Given the description of an element on the screen output the (x, y) to click on. 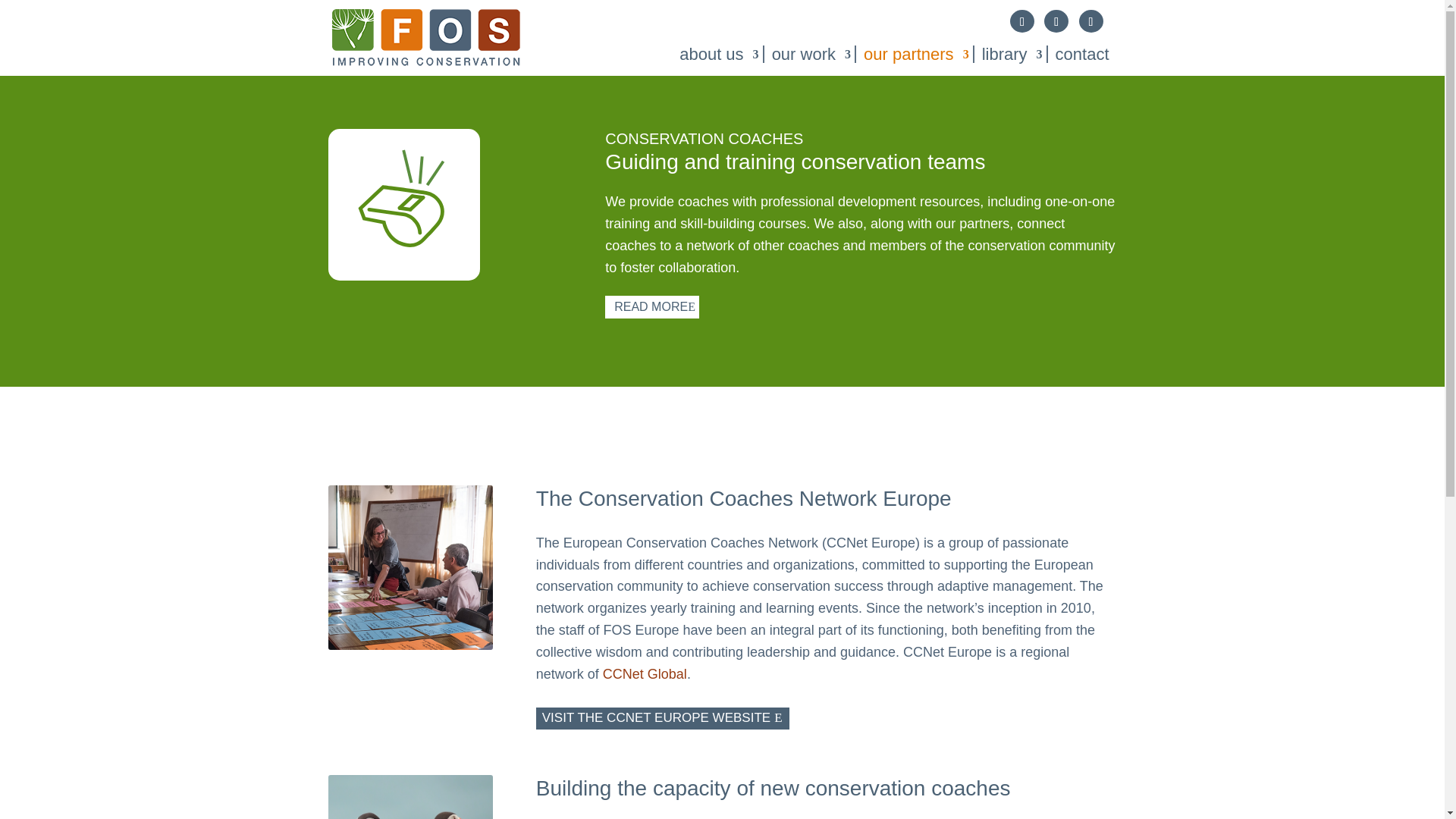
library (1007, 54)
about us (714, 54)
our work (806, 54)
our partners (911, 54)
